Given the description of an element on the screen output the (x, y) to click on. 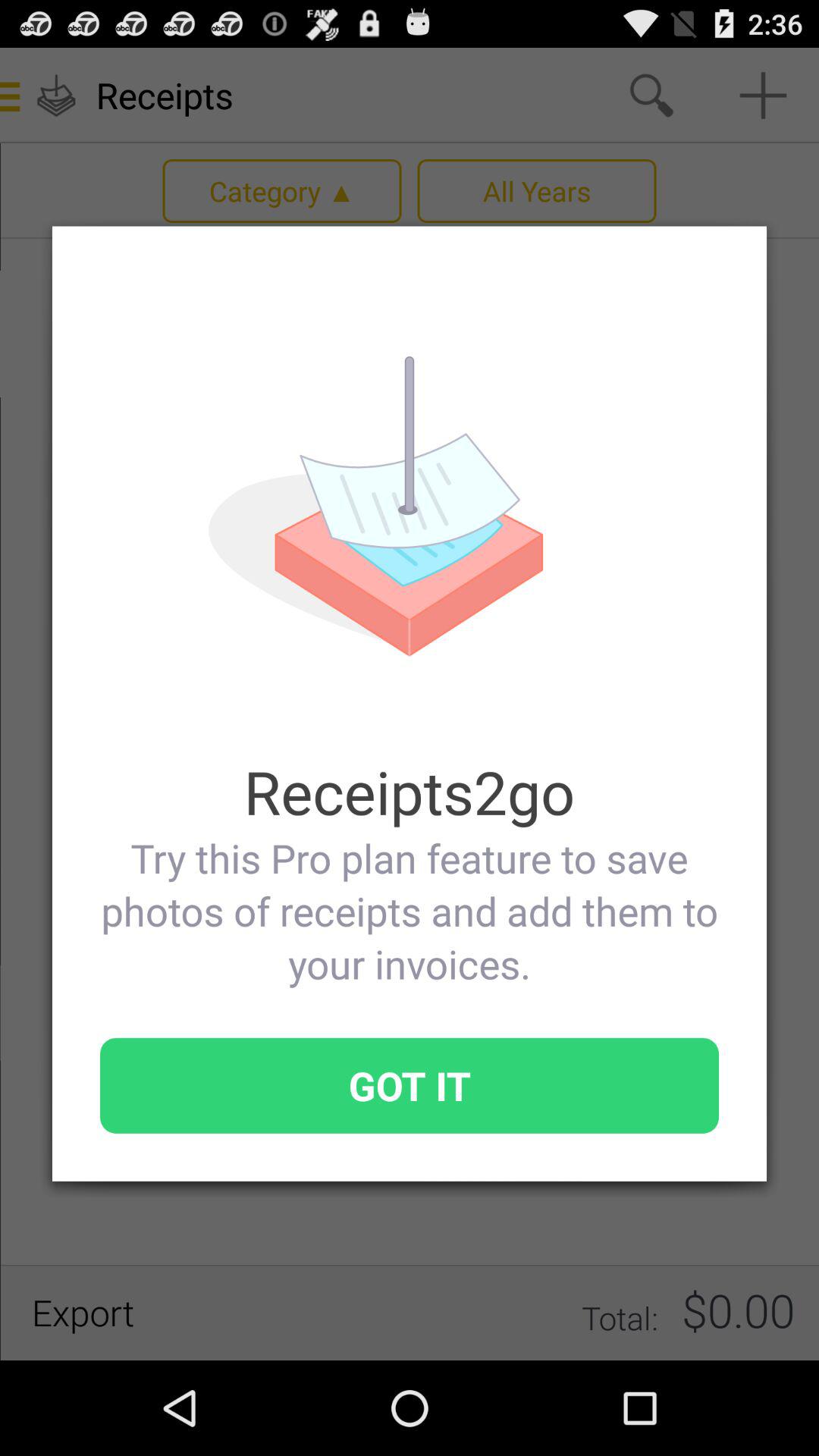
turn on icon below try this pro icon (409, 1085)
